Given the description of an element on the screen output the (x, y) to click on. 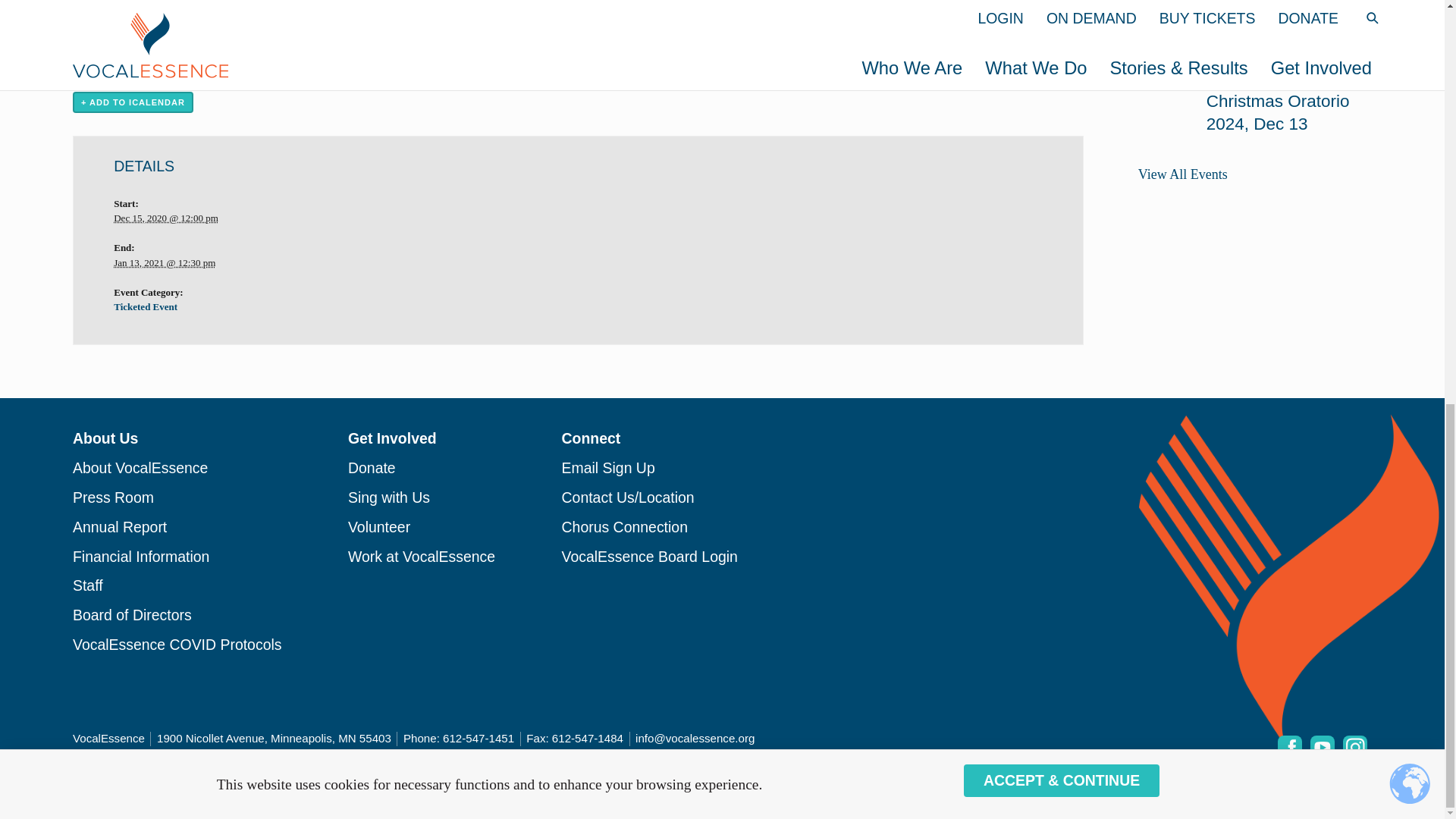
2021-01-13 (164, 262)
Instagram (1354, 747)
YouTube (1322, 747)
2020-12-15 (165, 217)
Facebook (1289, 747)
Download .ics file (132, 102)
